Given the description of an element on the screen output the (x, y) to click on. 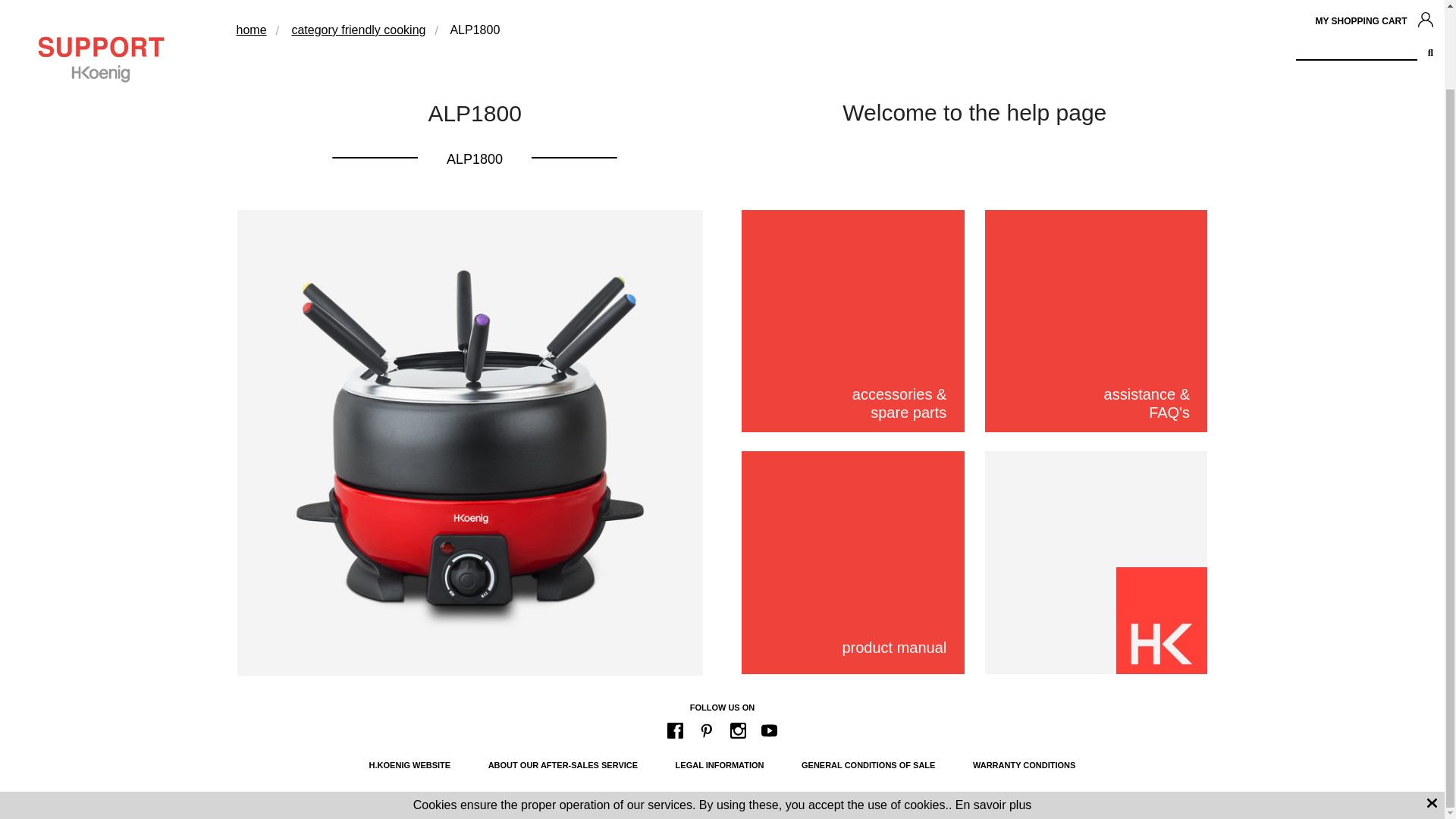
product manual (852, 562)
home (250, 29)
category friendly cooking (358, 29)
H.Koenig website (410, 764)
